Given the description of an element on the screen output the (x, y) to click on. 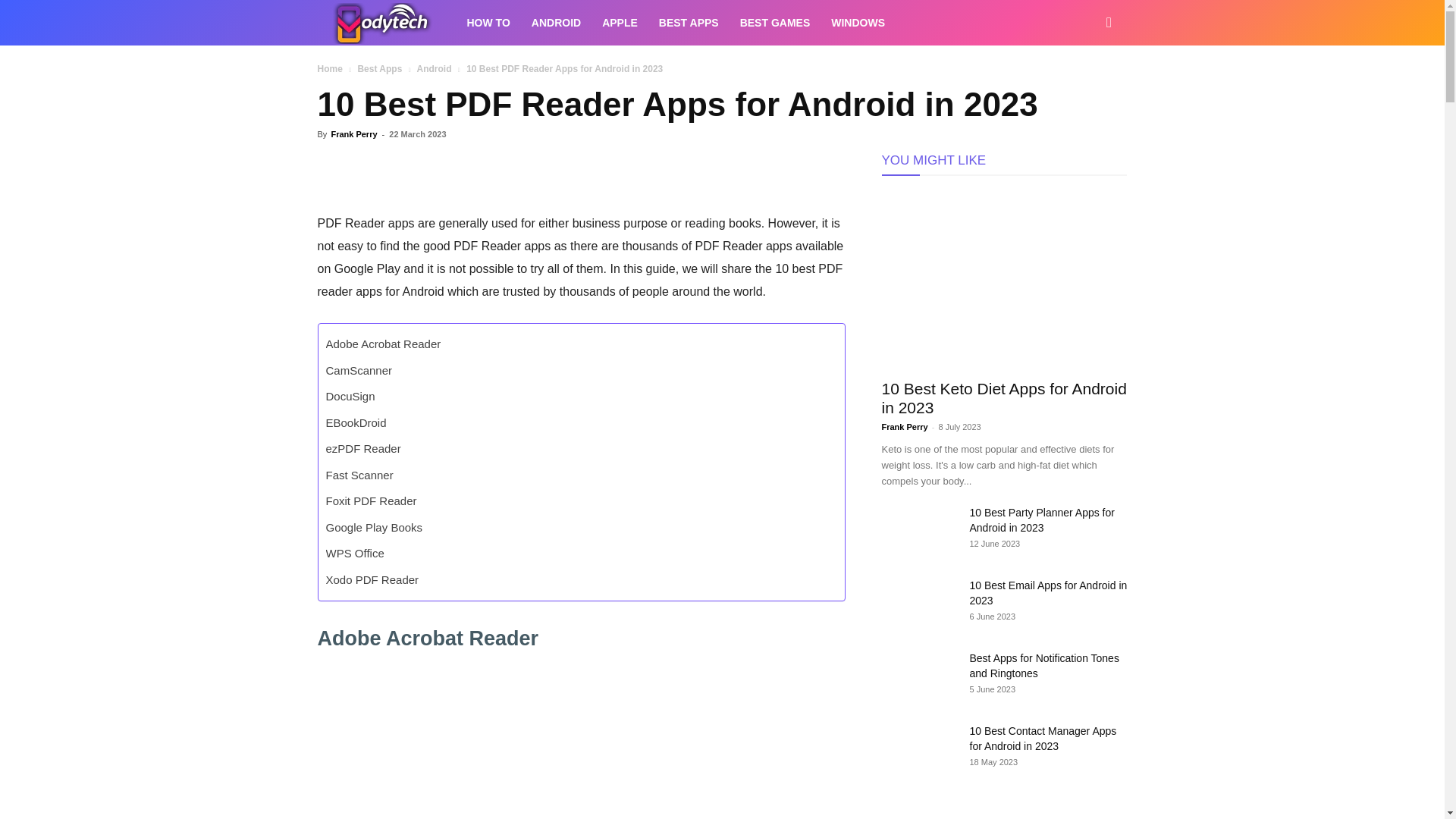
View all posts in Best Apps (378, 68)
View all posts in Android (433, 68)
BEST GAMES (775, 22)
CamScanner (359, 370)
WINDOWS (858, 22)
DocuSign (350, 397)
Foxit PDF Reader (371, 501)
BEST APPS (688, 22)
APPLE (619, 22)
VodyTech (386, 22)
